Given the description of an element on the screen output the (x, y) to click on. 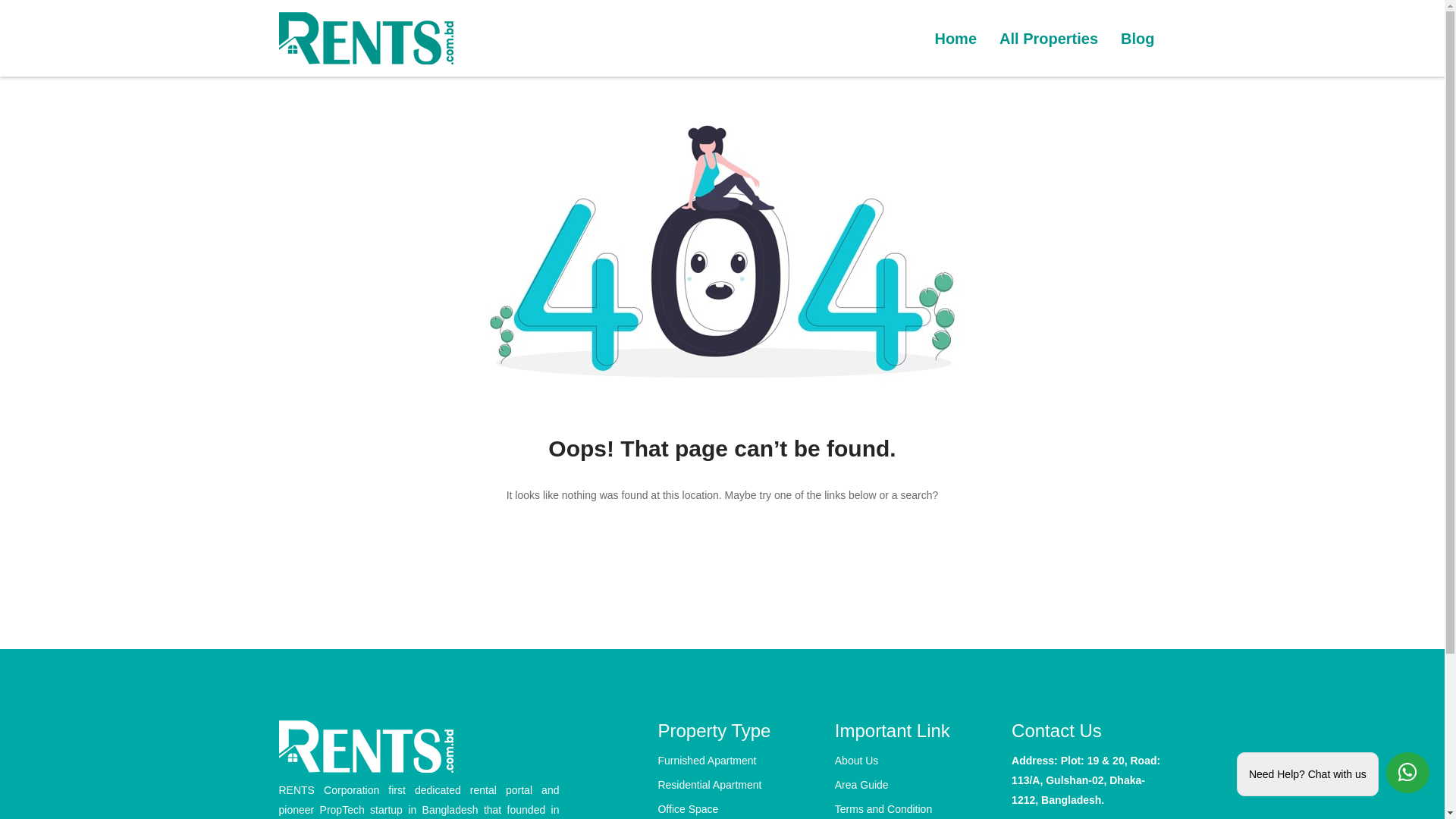
All Properties Element type: text (1048, 38)
Blog Element type: text (1137, 38)
Need Help? Chat with us Element type: text (1332, 774)
Home Element type: text (955, 38)
Residential Apartment Element type: text (734, 784)
Area Guide Element type: text (911, 784)
Furnished Apartment Element type: text (734, 760)
About Us Element type: text (911, 760)
